Given the description of an element on the screen output the (x, y) to click on. 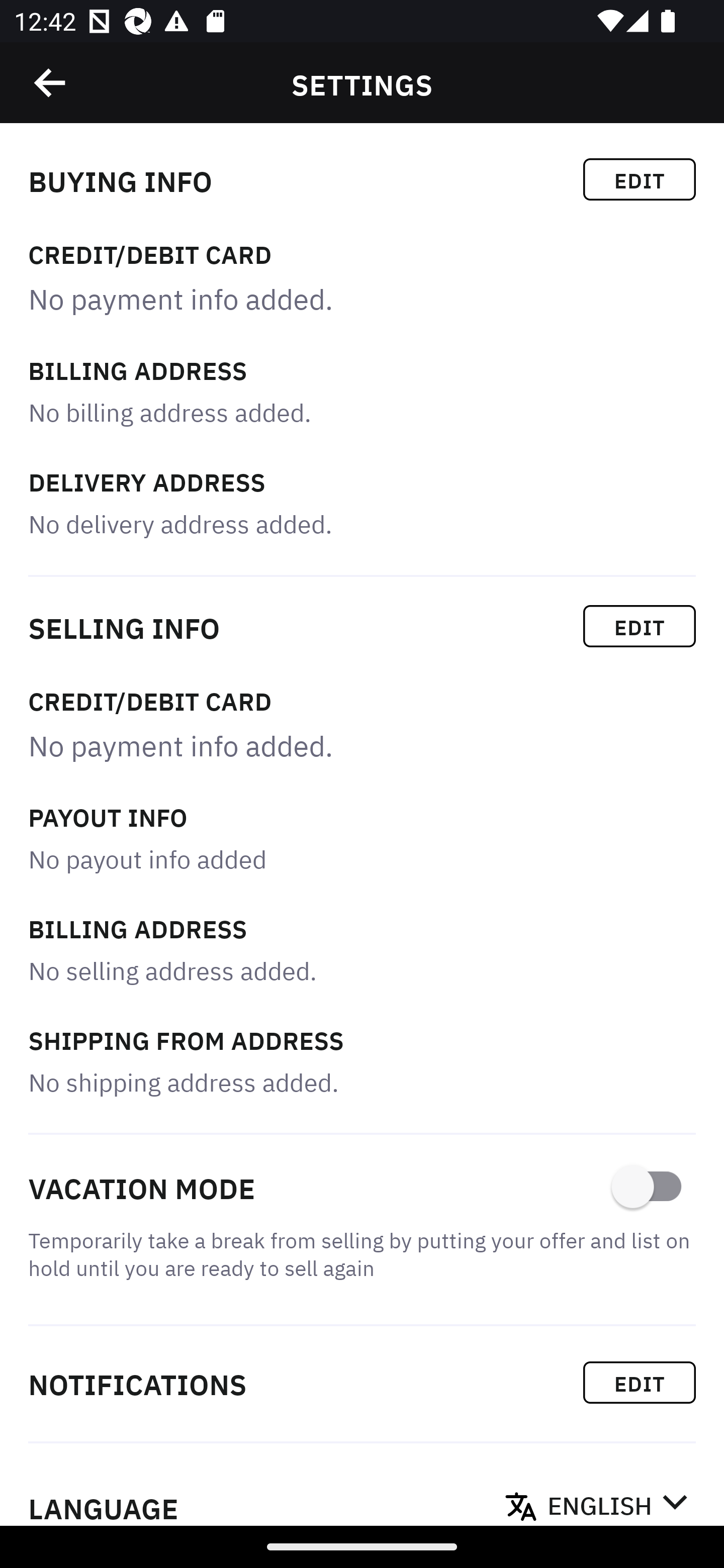
 (50, 83)
EDIT (639, 179)
EDIT (639, 626)
EDIT (639, 1382)
ENGLISH  (617, 1499)
